Given the description of an element on the screen output the (x, y) to click on. 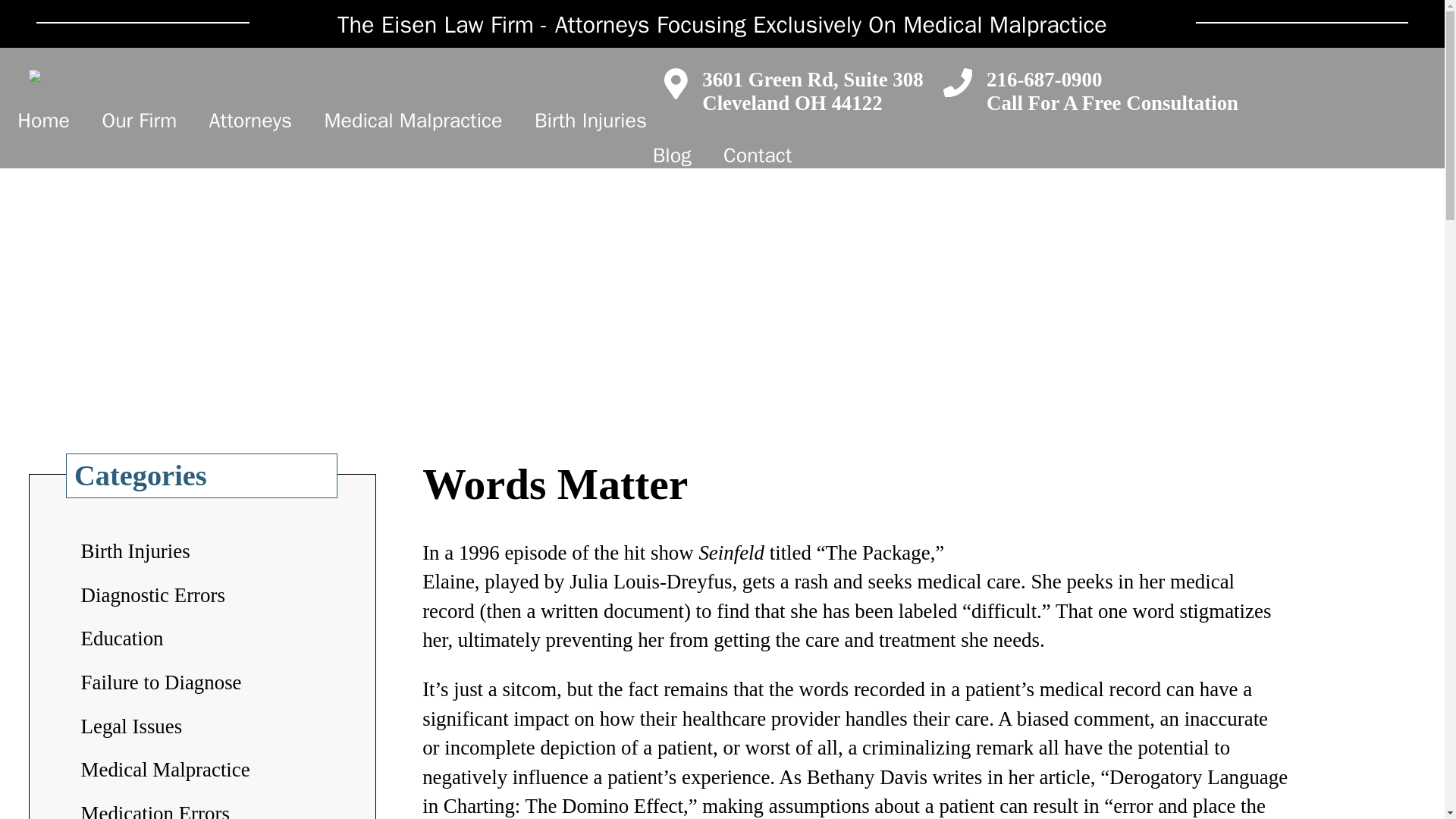
Attorneys (812, 90)
Home (250, 120)
Medical Malpractice (43, 119)
Our Firm (412, 120)
